Given the description of an element on the screen output the (x, y) to click on. 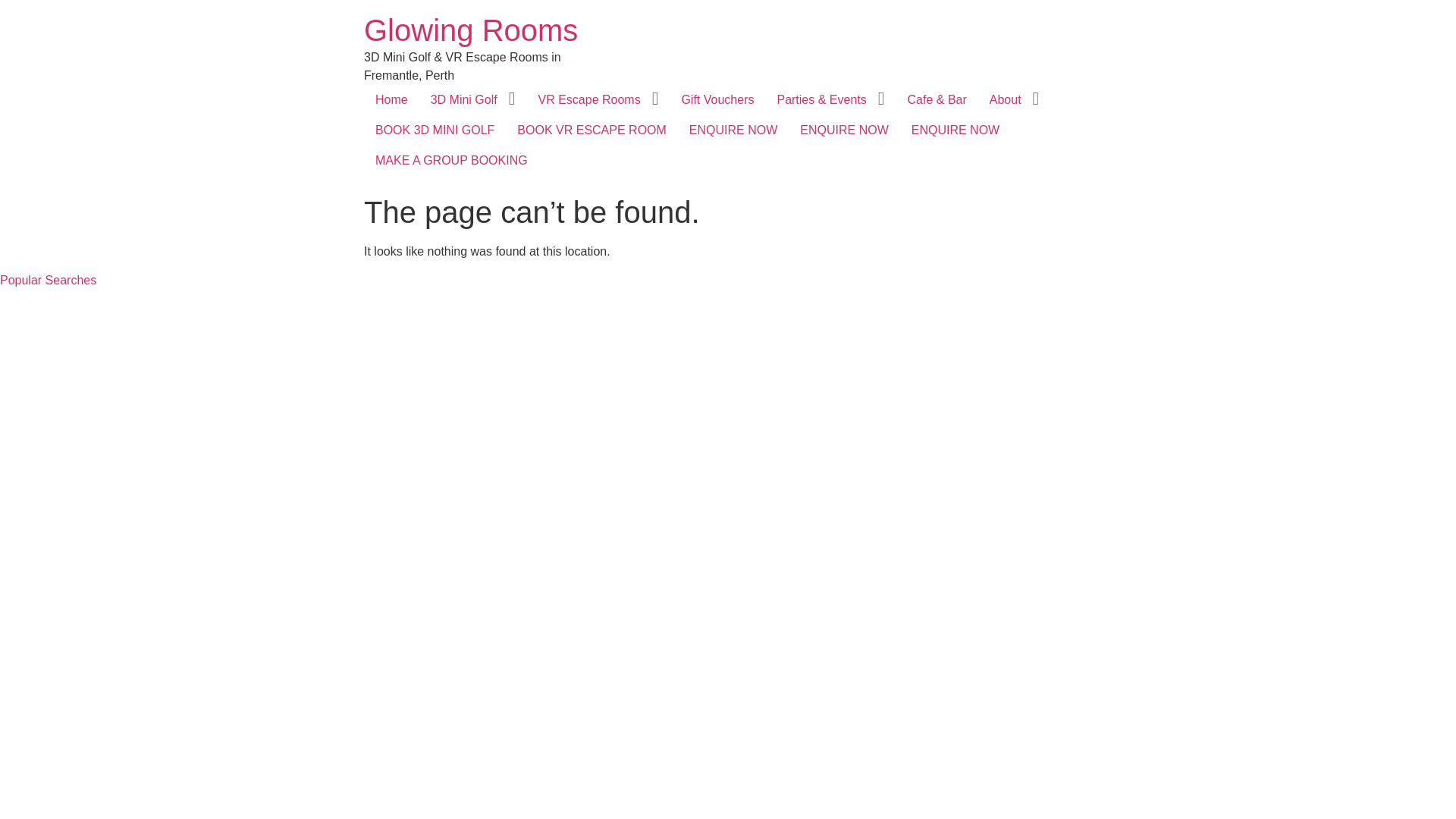
Glowing Rooms Element type: text (470, 30)
MAKE A GROUP BOOKING Element type: text (451, 160)
3D Mini Golf Element type: text (463, 99)
ENQUIRE NOW Element type: text (843, 130)
Gift Vouchers Element type: text (717, 99)
Cafe & Bar Element type: text (937, 99)
Popular Searches Element type: text (48, 279)
BOOK VR ESCAPE ROOM Element type: text (591, 130)
ENQUIRE NOW Element type: text (732, 130)
ENQUIRE NOW Element type: text (955, 130)
Home Element type: text (391, 99)
Parties & Events Element type: text (821, 99)
About Element type: text (1005, 99)
BOOK 3D MINI GOLF Element type: text (434, 130)
VR Escape Rooms Element type: text (588, 99)
